Given the description of an element on the screen output the (x, y) to click on. 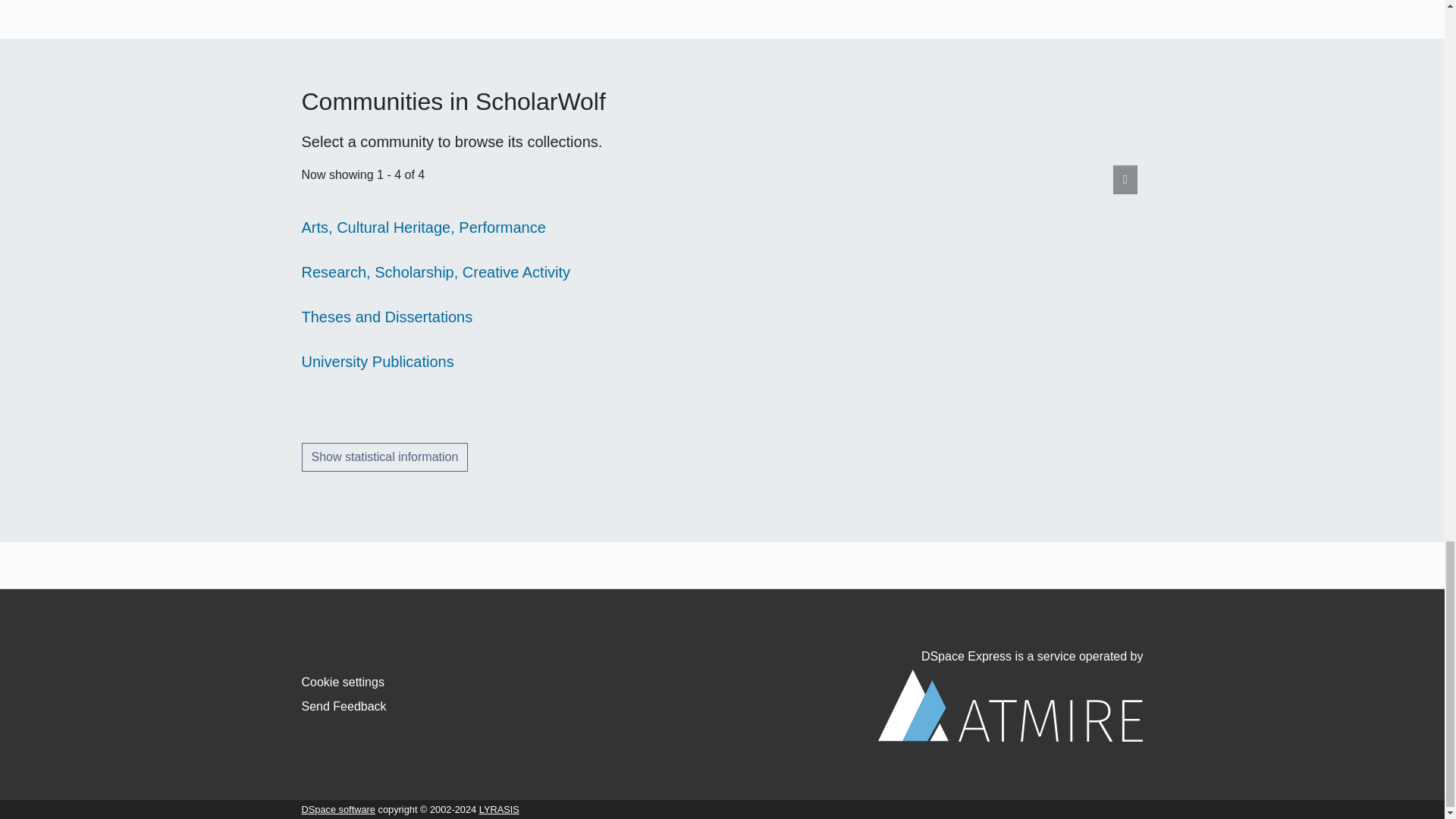
Research, Scholarship, Creative Activity (435, 271)
Theses and Dissertations (387, 316)
Cookie settings (342, 681)
Show statistical information (384, 457)
Arts, Cultural Heritage, Performance (423, 227)
University Publications (377, 361)
